Given the description of an element on the screen output the (x, y) to click on. 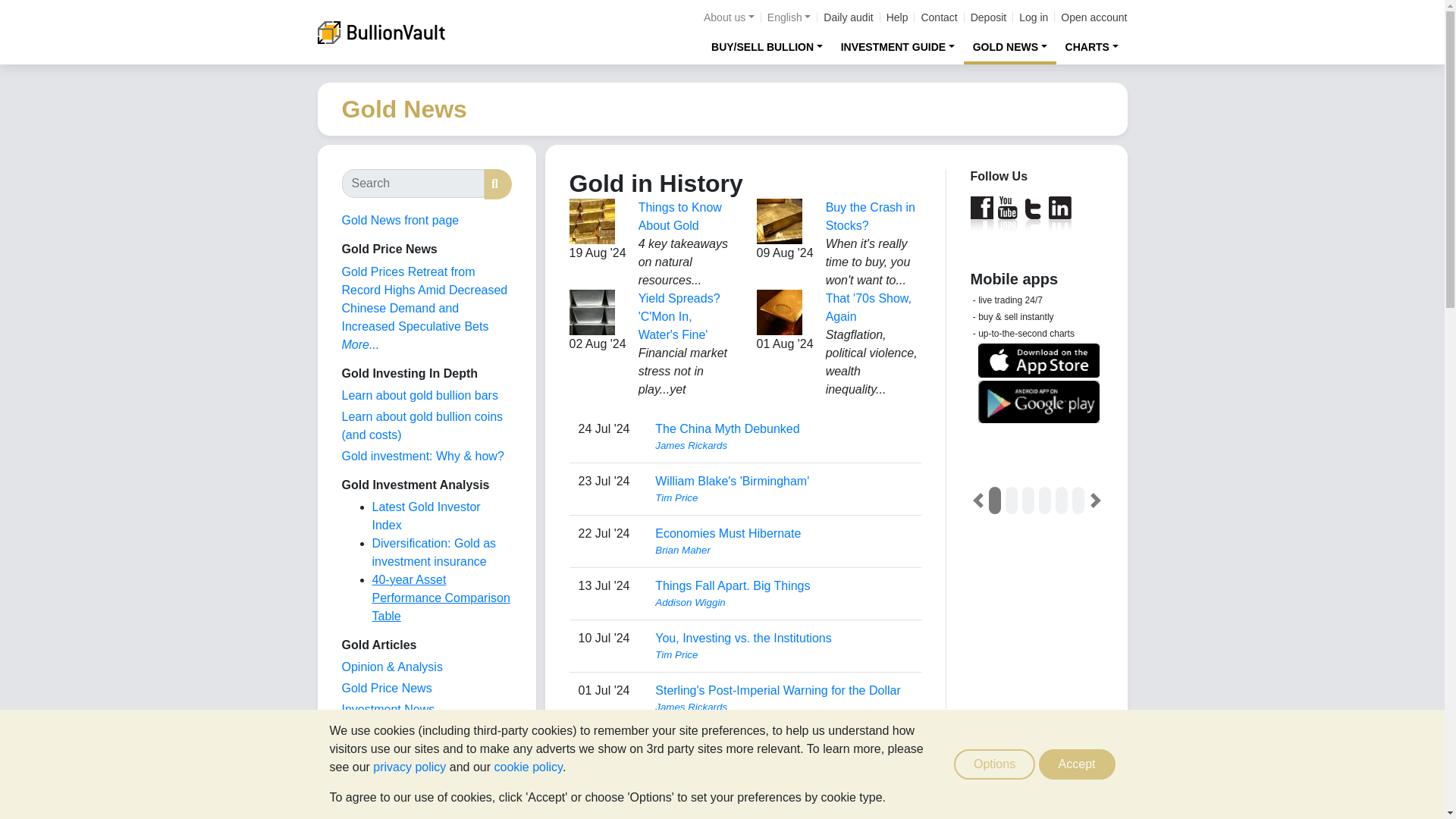
View user profile. (783, 654)
Contact (938, 17)
Investment News (386, 708)
English (788, 17)
Gold in History (380, 793)
Books about Gold Reviewed (372, 814)
View user profile. (783, 811)
View user profile. (783, 602)
The View from the Vault (391, 666)
Gold Investor Index (393, 730)
